Given the description of an element on the screen output the (x, y) to click on. 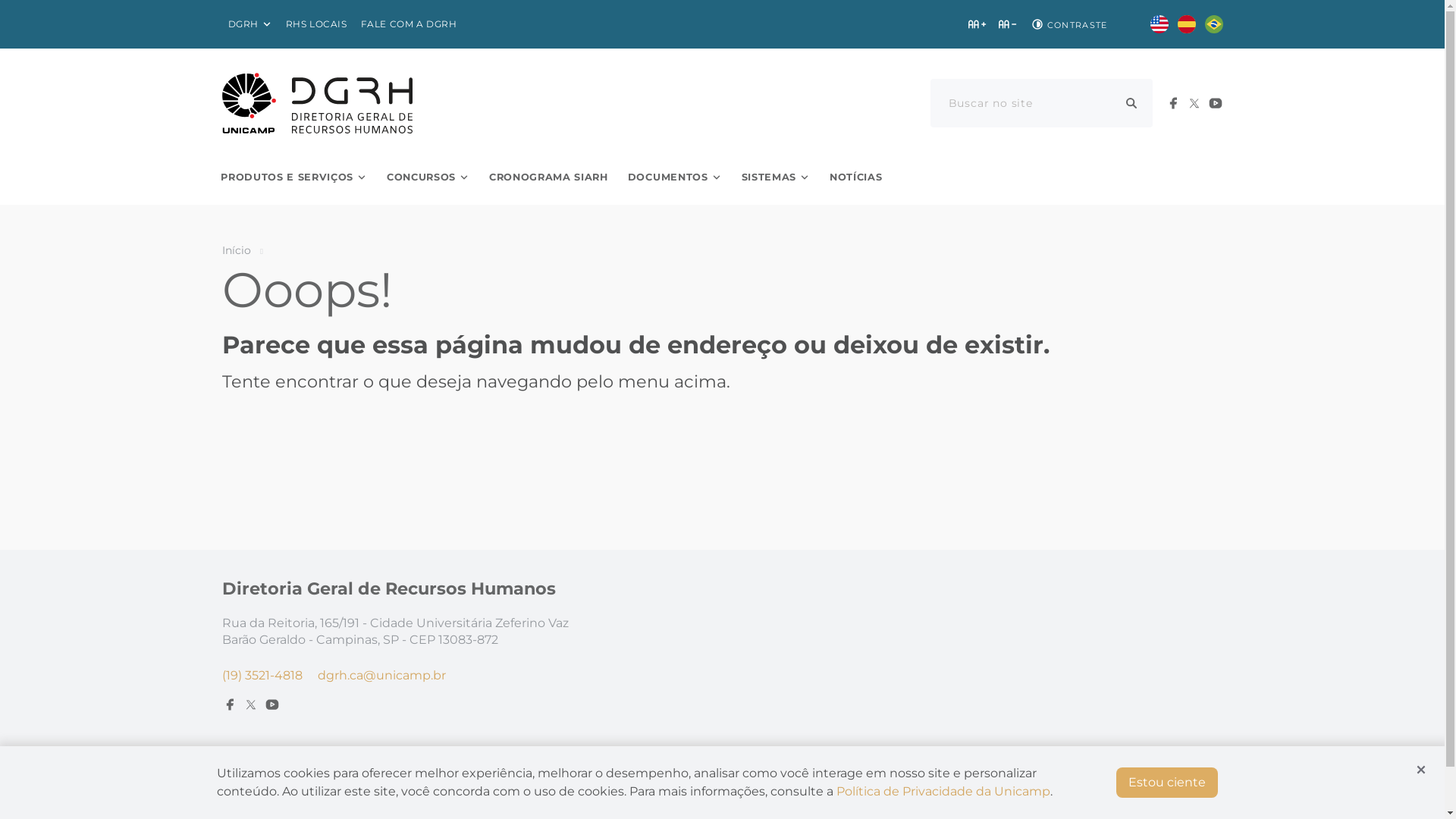
dgrh.ca@unicamp.br Element type: text (380, 675)
DGRH Element type: text (249, 24)
(19) 3521-4818 Element type: text (261, 675)
English Element type: hover (1158, 24)
Link para o Twitter Element type: text (1193, 102)
Fechar Element type: text (1420, 769)
RHS LOCAIS Element type: text (316, 24)
Estou ciente Element type: text (1166, 782)
Link para o Youtube Element type: text (1214, 102)
CONTRASTE Element type: text (1067, 24)
DOCUMENTOS Element type: text (674, 177)
Buscar Element type: text (1131, 103)
CRONOGRAMA SIARH Element type: text (548, 177)
Link para o Youtube Element type: text (271, 704)
Link para o Facebook Element type: text (228, 704)
Diminuir fonte Element type: text (1006, 24)
SISTEMAS Element type: text (775, 177)
Portuguese Element type: hover (1213, 24)
CONCURSOS Element type: text (427, 177)
Link para o Twitter Element type: text (249, 704)
Spanish Element type: hover (1185, 24)
Aumentar fonte Element type: text (976, 24)
Link para o Facebook Element type: text (1171, 102)
FALE COM A DGRH Element type: text (408, 24)
